Given the description of an element on the screen output the (x, y) to click on. 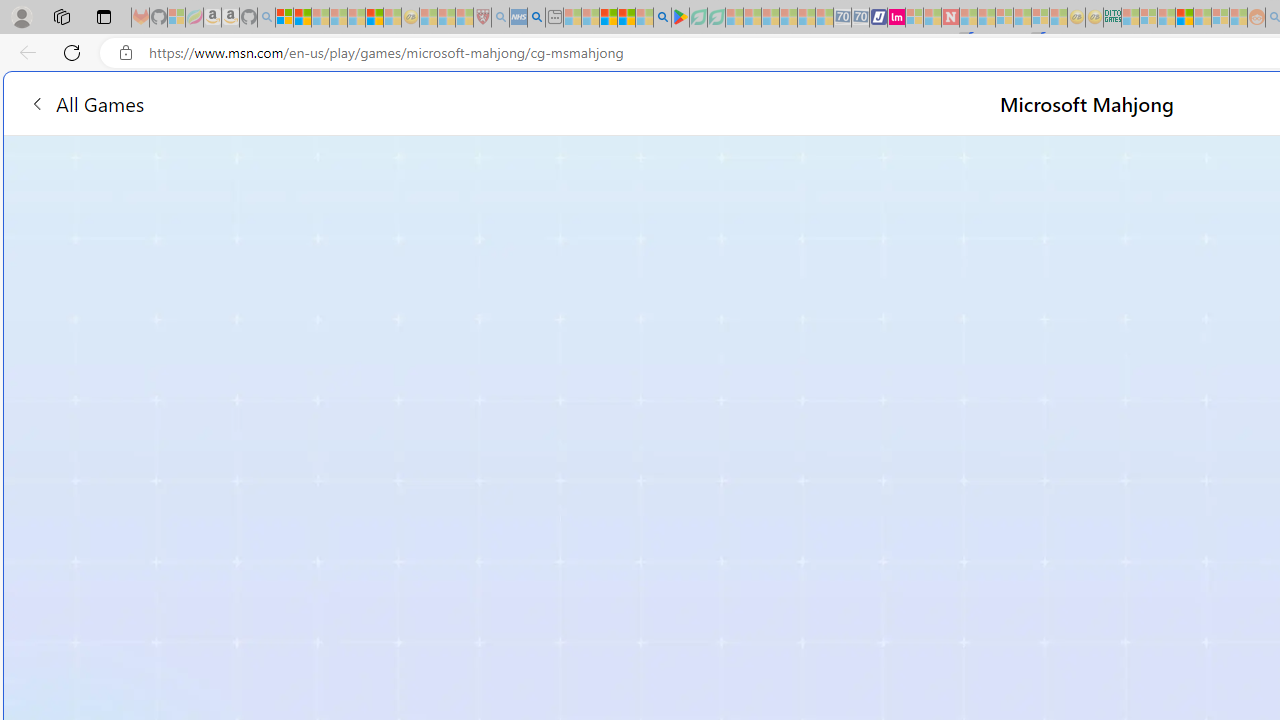
Pets - MSN (626, 17)
All Games (380, 102)
Expert Portfolios (1184, 17)
